Given the description of an element on the screen output the (x, y) to click on. 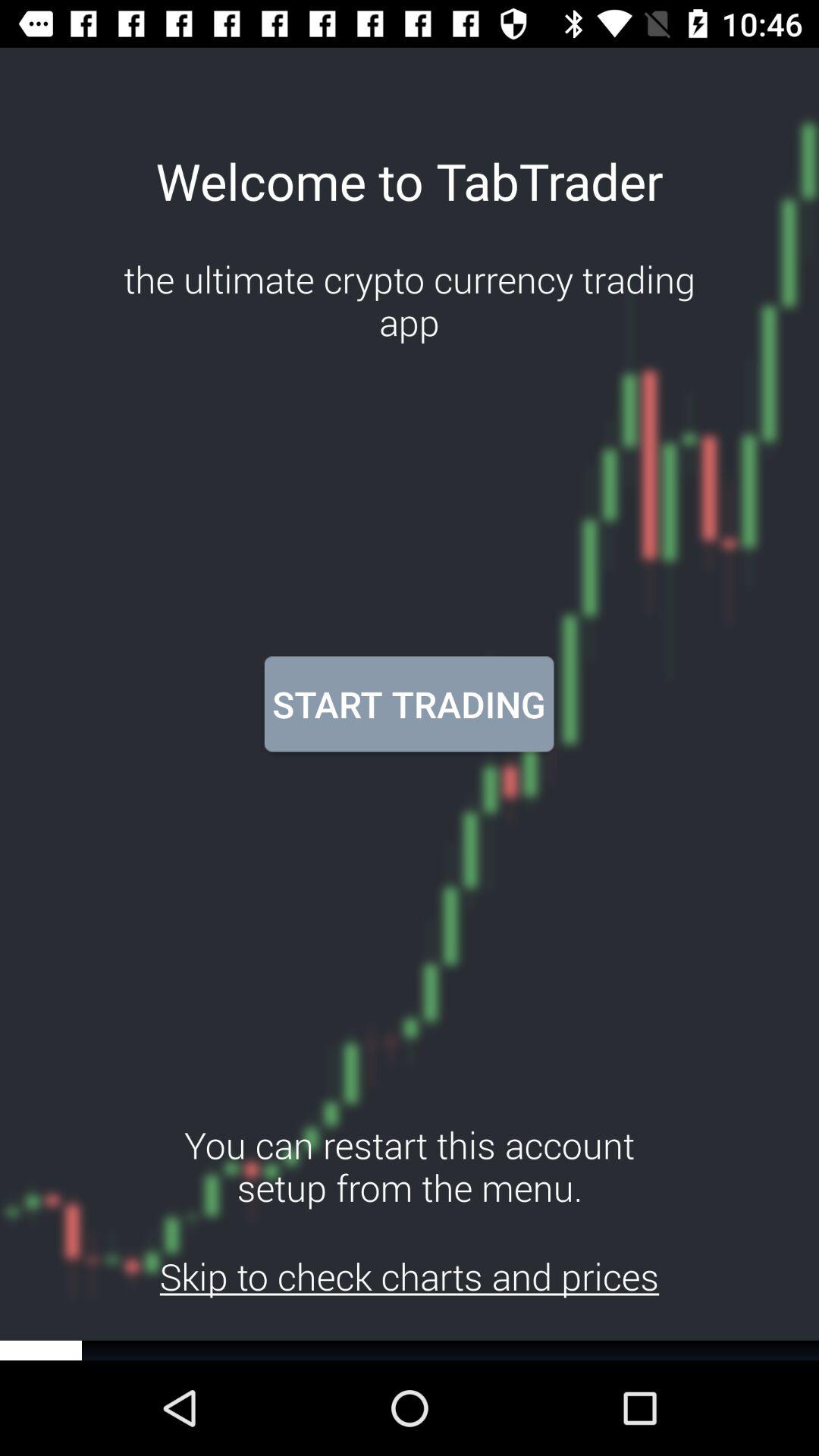
launch the skip to check item (409, 1275)
